Given the description of an element on the screen output the (x, y) to click on. 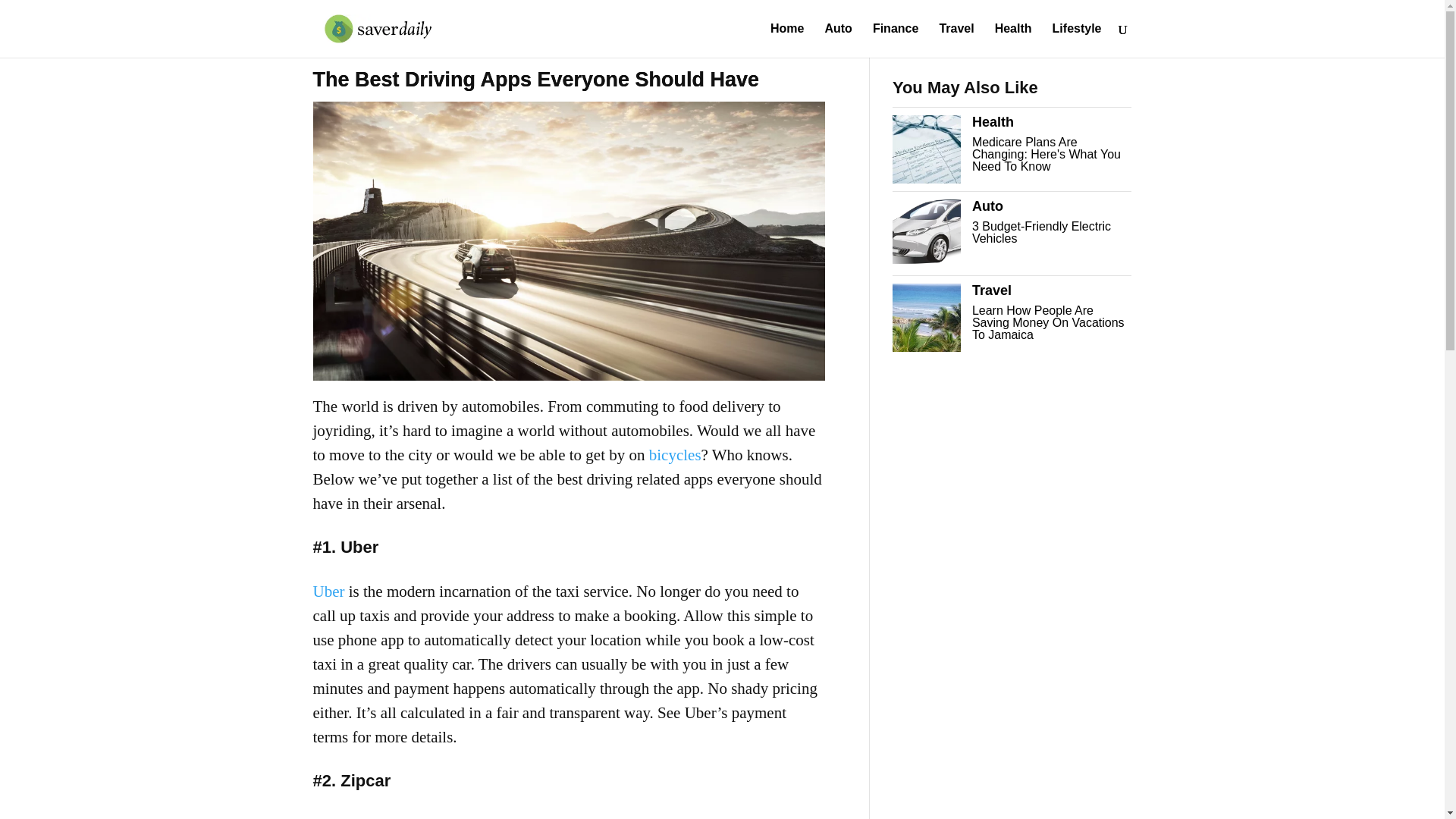
Travel (956, 40)
Home (786, 40)
Finance (895, 40)
bicycles (675, 454)
Lifestyle (1077, 40)
Uber (328, 591)
Health (1013, 40)
